Given the description of an element on the screen output the (x, y) to click on. 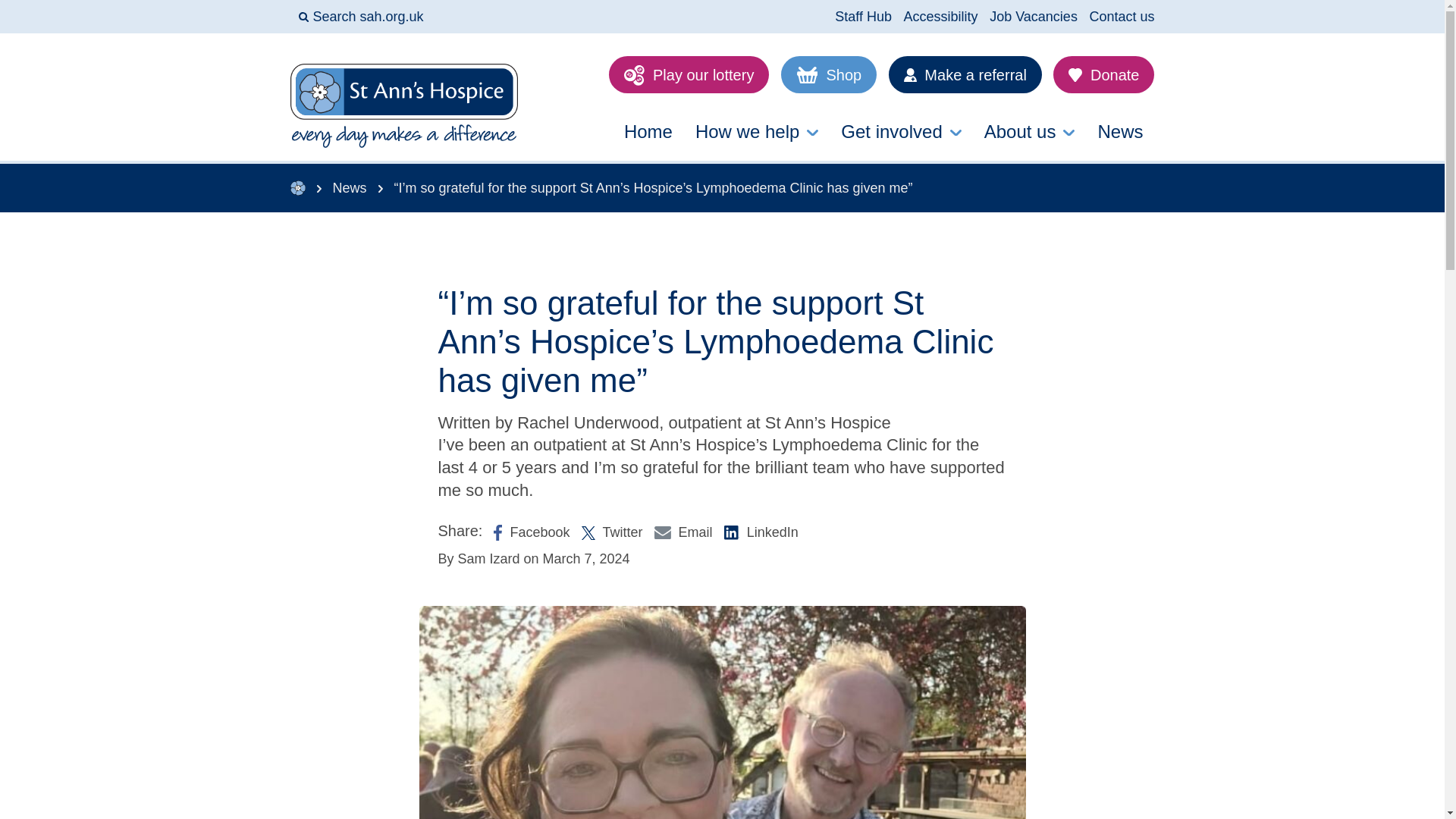
Contact us (1121, 16)
Home (648, 131)
Lotto icon Created with Sketch. Play our lottery (688, 74)
Share on Facebook (531, 531)
Job Vacancies (1033, 16)
Accessibility (941, 16)
Share on Twitter (611, 531)
Share this via email (683, 531)
Lotto icon Created with Sketch. (634, 75)
Staff Hub (862, 16)
